Given the description of an element on the screen output the (x, y) to click on. 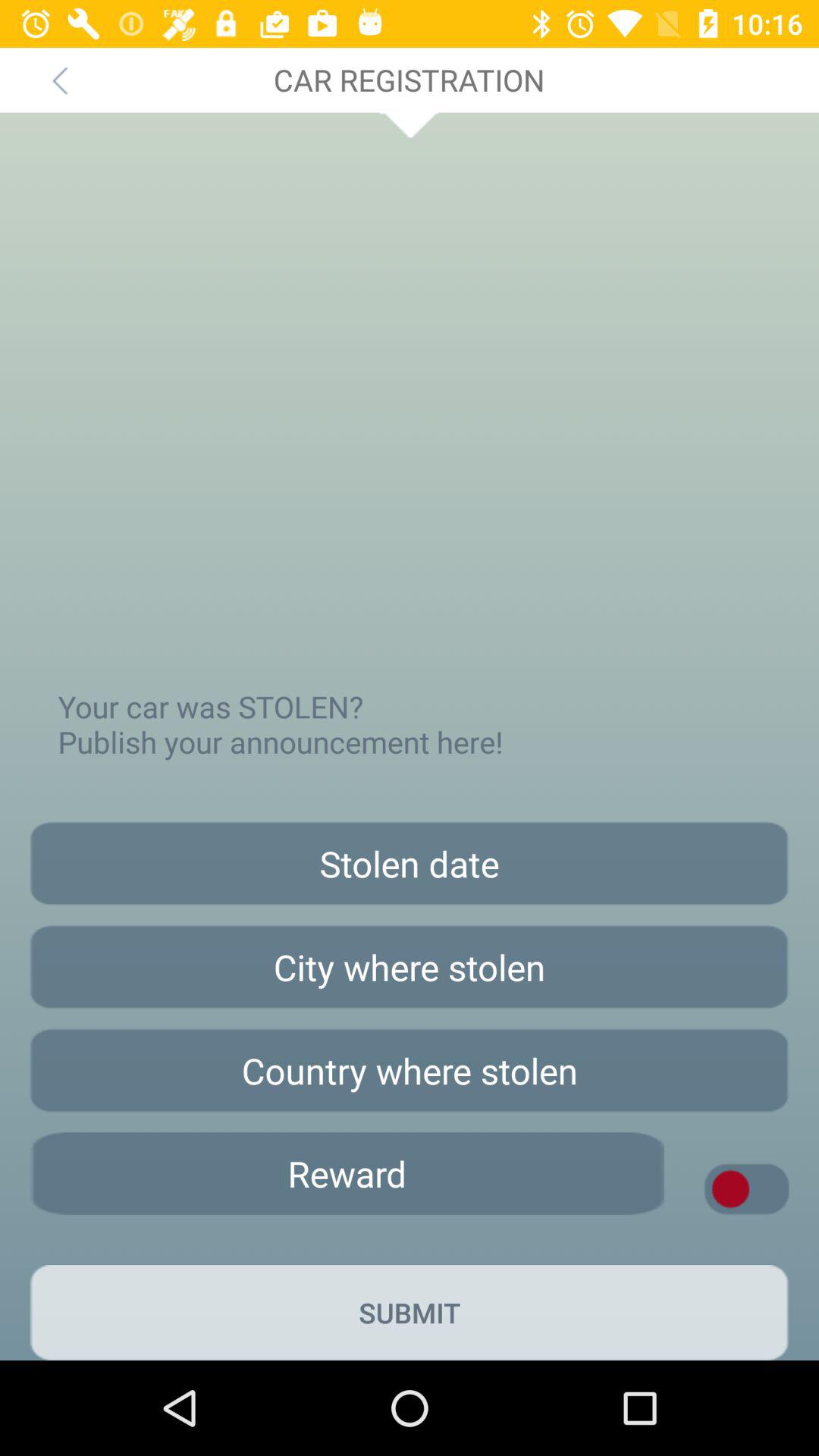
select city where stolen option (409, 966)
